Given the description of an element on the screen output the (x, y) to click on. 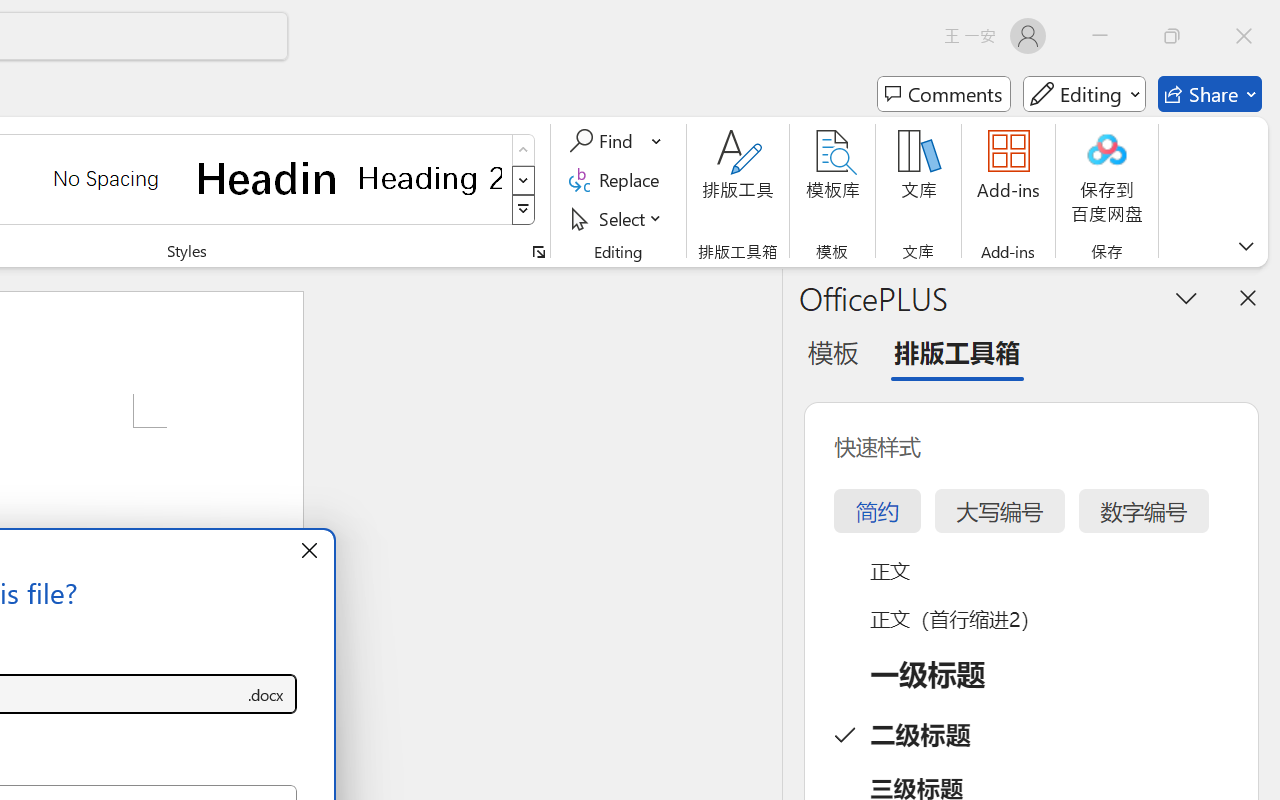
Save as type (265, 694)
